Given the description of an element on the screen output the (x, y) to click on. 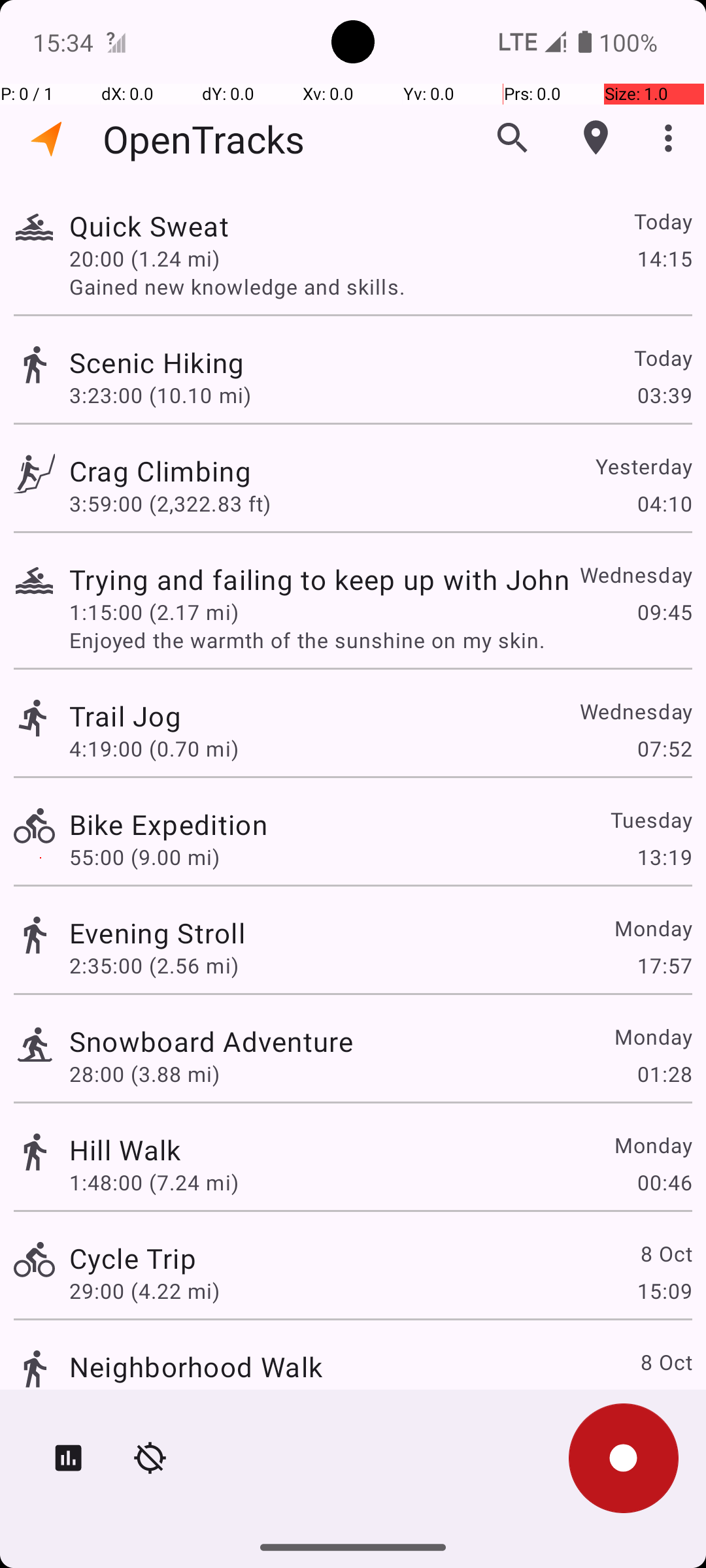
Quick Sweat Element type: android.widget.TextView (148, 225)
20:00 (1.24 mi) Element type: android.widget.TextView (144, 258)
14:15 Element type: android.widget.TextView (664, 258)
Gained new knowledge and skills. Element type: android.widget.TextView (380, 286)
Scenic Hiking Element type: android.widget.TextView (156, 361)
3:23:00 (10.10 mi) Element type: android.widget.TextView (159, 394)
03:39 Element type: android.widget.TextView (664, 394)
Crag Climbing Element type: android.widget.TextView (159, 470)
3:59:00 (2,322.83 ft) Element type: android.widget.TextView (169, 503)
04:10 Element type: android.widget.TextView (664, 503)
Trying and failing to keep up with John Element type: android.widget.TextView (319, 578)
1:15:00 (2.17 mi) Element type: android.widget.TextView (153, 611)
09:45 Element type: android.widget.TextView (664, 611)
Enjoyed the warmth of the sunshine on my skin. Element type: android.widget.TextView (380, 639)
Trail Jog Element type: android.widget.TextView (124, 715)
4:19:00 (0.70 mi) Element type: android.widget.TextView (153, 748)
07:52 Element type: android.widget.TextView (664, 748)
Bike Expedition Element type: android.widget.TextView (168, 823)
55:00 (9.00 mi) Element type: android.widget.TextView (144, 856)
13:19 Element type: android.widget.TextView (664, 856)
Evening Stroll Element type: android.widget.TextView (156, 932)
2:35:00 (2.56 mi) Element type: android.widget.TextView (153, 965)
17:57 Element type: android.widget.TextView (664, 965)
Snowboard Adventure Element type: android.widget.TextView (210, 1040)
28:00 (3.88 mi) Element type: android.widget.TextView (144, 1073)
01:28 Element type: android.widget.TextView (664, 1073)
Hill Walk Element type: android.widget.TextView (124, 1149)
1:48:00 (7.24 mi) Element type: android.widget.TextView (153, 1182)
00:46 Element type: android.widget.TextView (664, 1182)
Cycle Trip Element type: android.widget.TextView (132, 1257)
29:00 (4.22 mi) Element type: android.widget.TextView (144, 1290)
15:09 Element type: android.widget.TextView (664, 1290)
Neighborhood Walk Element type: android.widget.TextView (195, 1366)
4:44:00 (1.19 mi) Element type: android.widget.TextView (153, 1399)
02:01 Element type: android.widget.TextView (664, 1399)
